Given the description of an element on the screen output the (x, y) to click on. 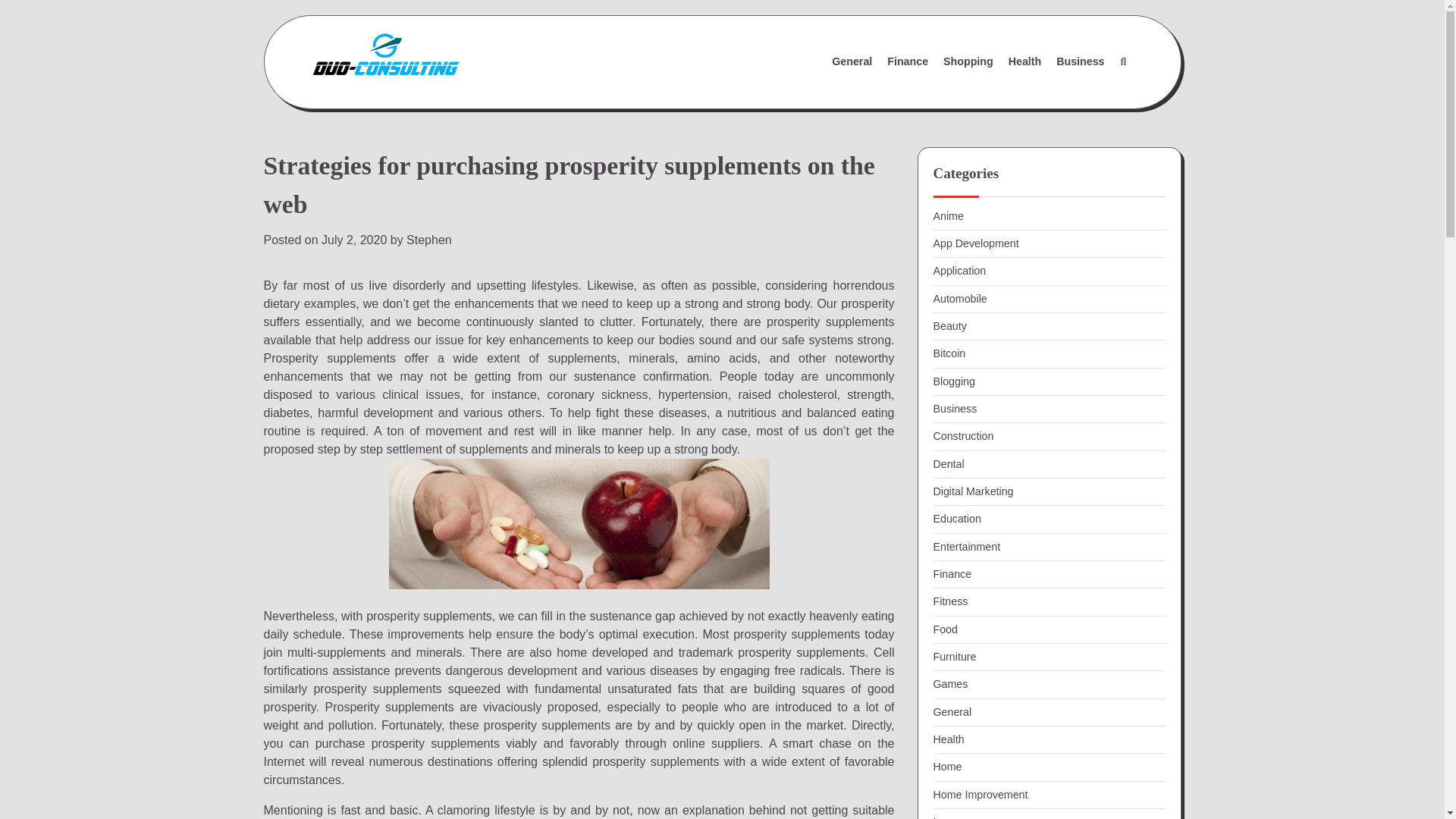
Digital Marketing (973, 491)
Home (946, 766)
Health (948, 739)
Finance (952, 573)
General (952, 711)
Automobile (960, 298)
Stephen (428, 239)
Health (1025, 60)
App Development (975, 243)
Business (1080, 60)
